Given the description of an element on the screen output the (x, y) to click on. 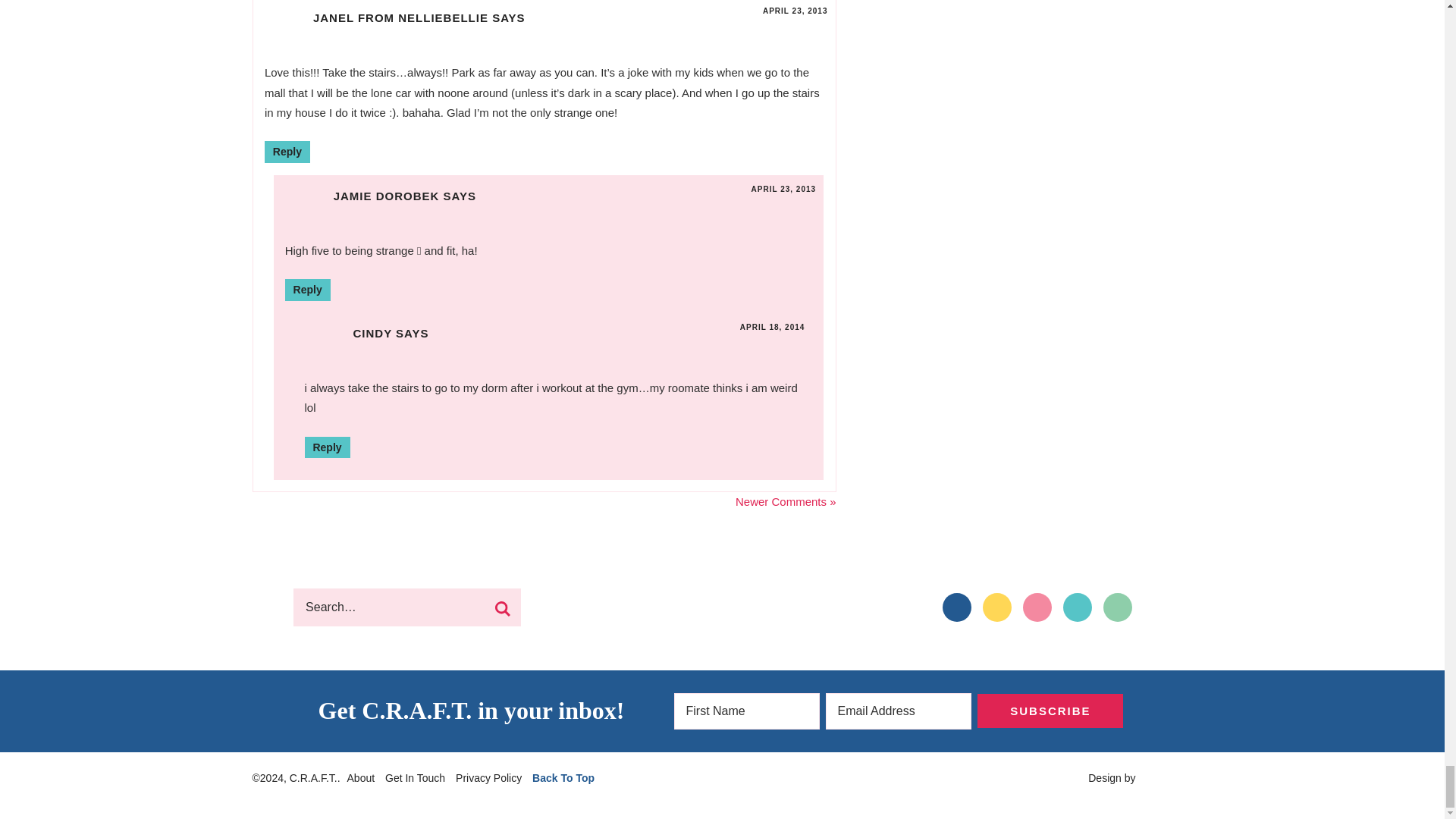
Search for (407, 606)
